Given the description of an element on the screen output the (x, y) to click on. 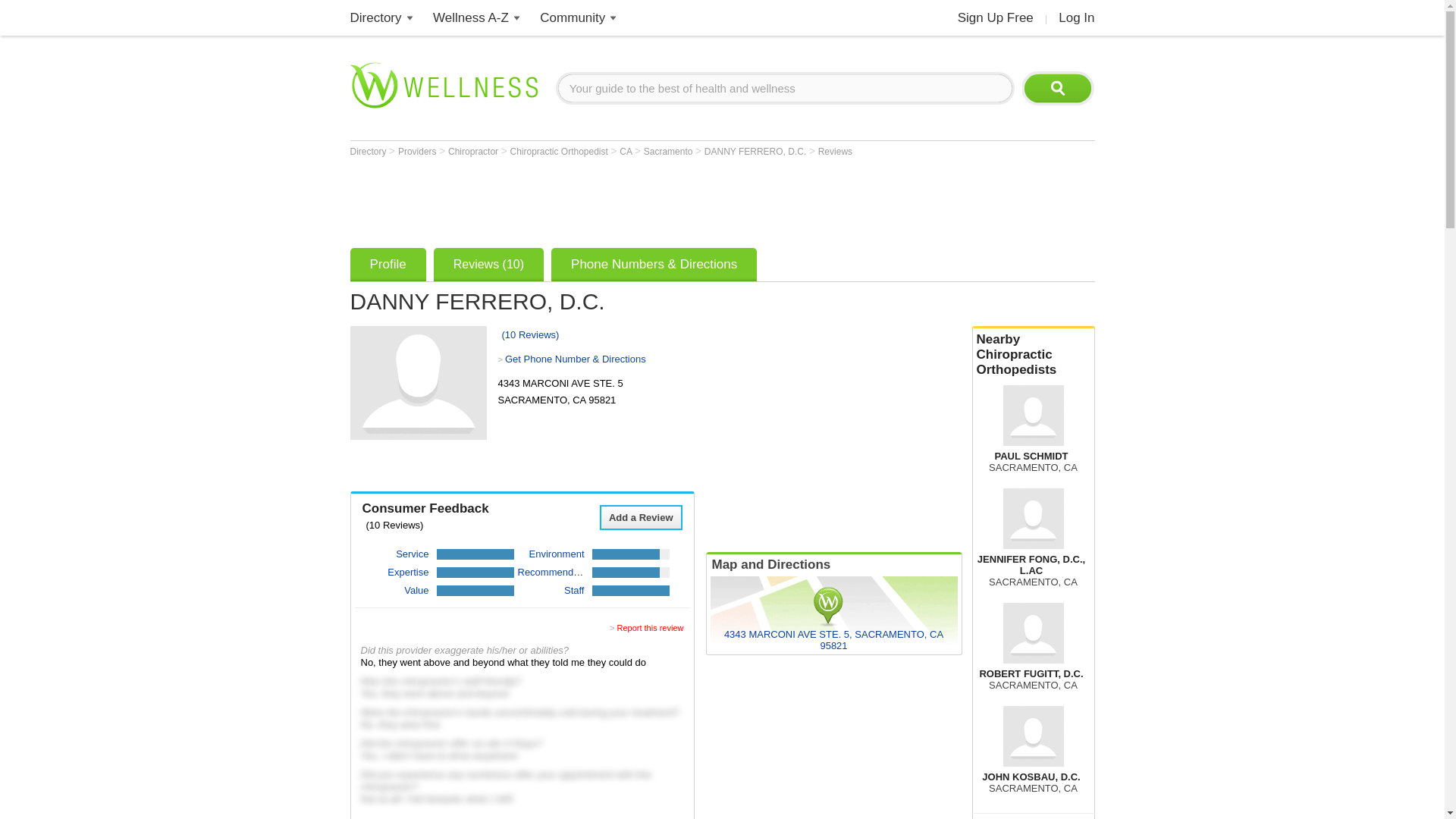
Your guide to the best of health and wellness (785, 88)
Your guide to the best of health and wellness (785, 88)
Directory (375, 17)
Wellness Directory (375, 17)
